Given the description of an element on the screen output the (x, y) to click on. 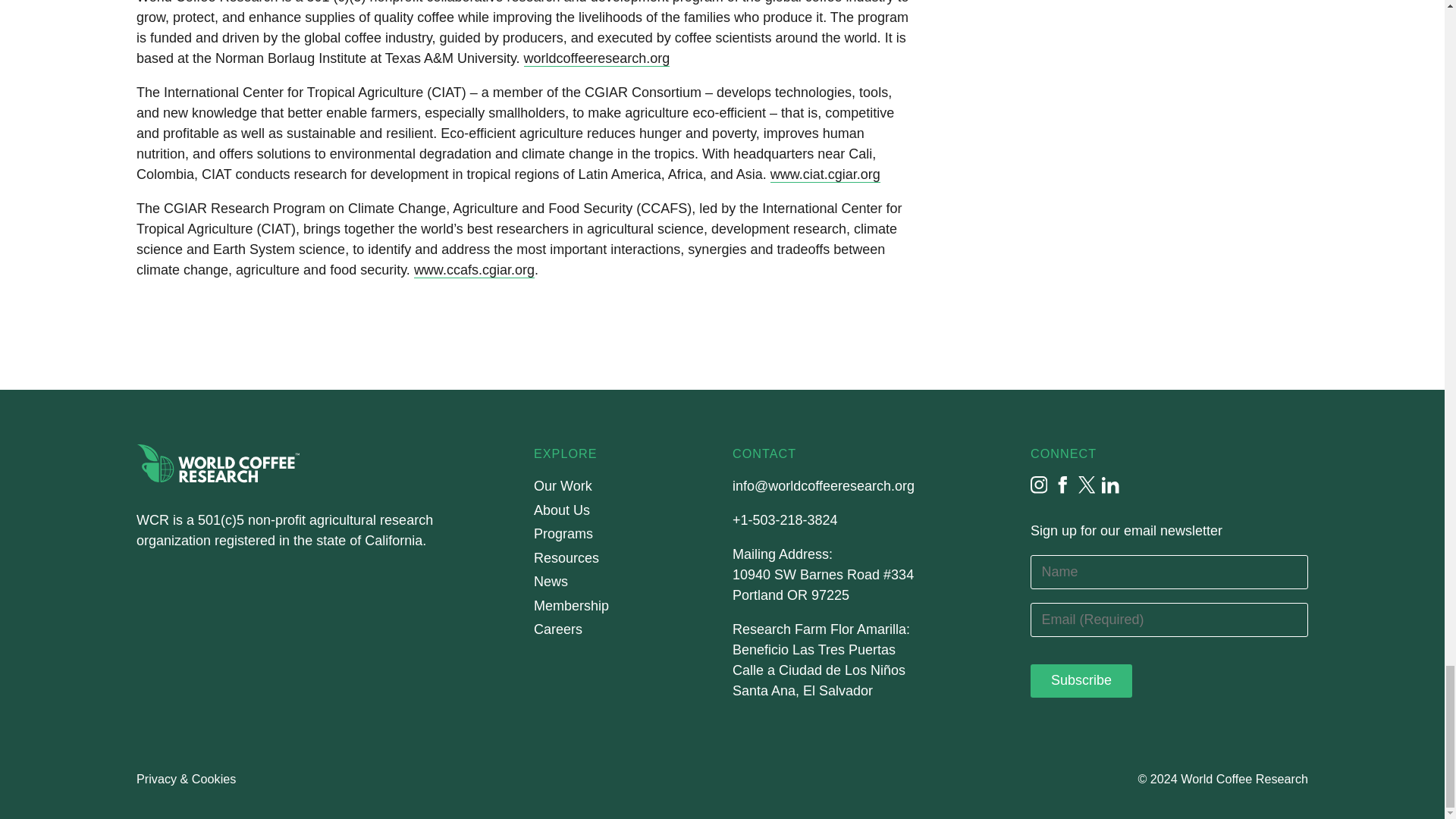
Programs (563, 534)
News (550, 581)
Follow us on Instagram (1039, 484)
Resources (566, 558)
Our Work (563, 486)
www.ciat.cgiar.org (825, 174)
About Us (561, 510)
Follow us on X (1087, 484)
worldcoffeeresearch.org (596, 58)
Connect with us on LinkedIn (1110, 484)
Careers (558, 629)
Membership (571, 606)
www.ccafs.cgiar.org (473, 270)
Like us on Facebook (1062, 484)
